Given the description of an element on the screen output the (x, y) to click on. 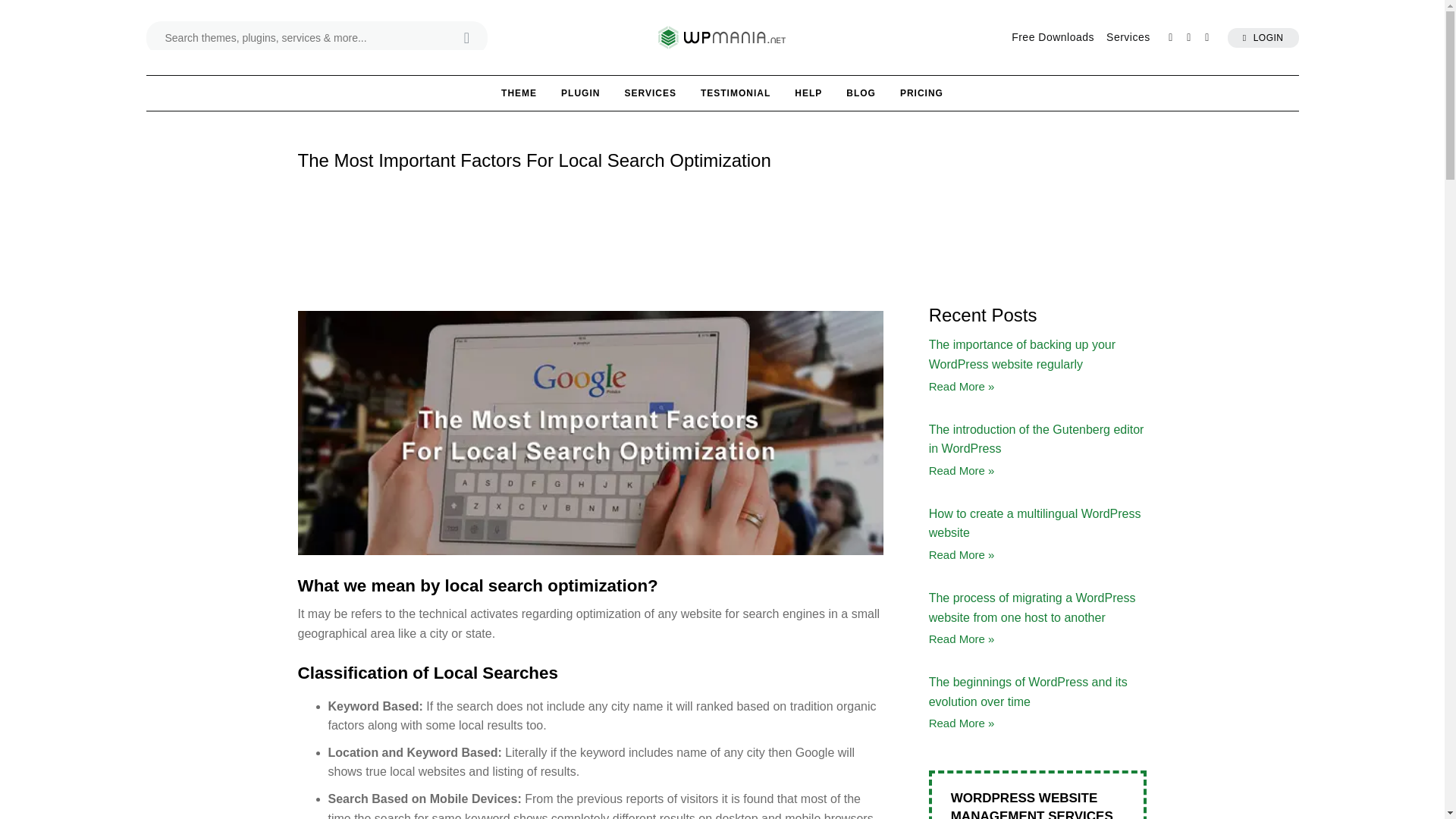
PRICING (921, 93)
BLOG (860, 93)
LOGIN (1262, 36)
TESTIMONIAL (735, 93)
SERVICES (650, 93)
THEME (518, 93)
PLUGIN (579, 93)
